Given the description of an element on the screen output the (x, y) to click on. 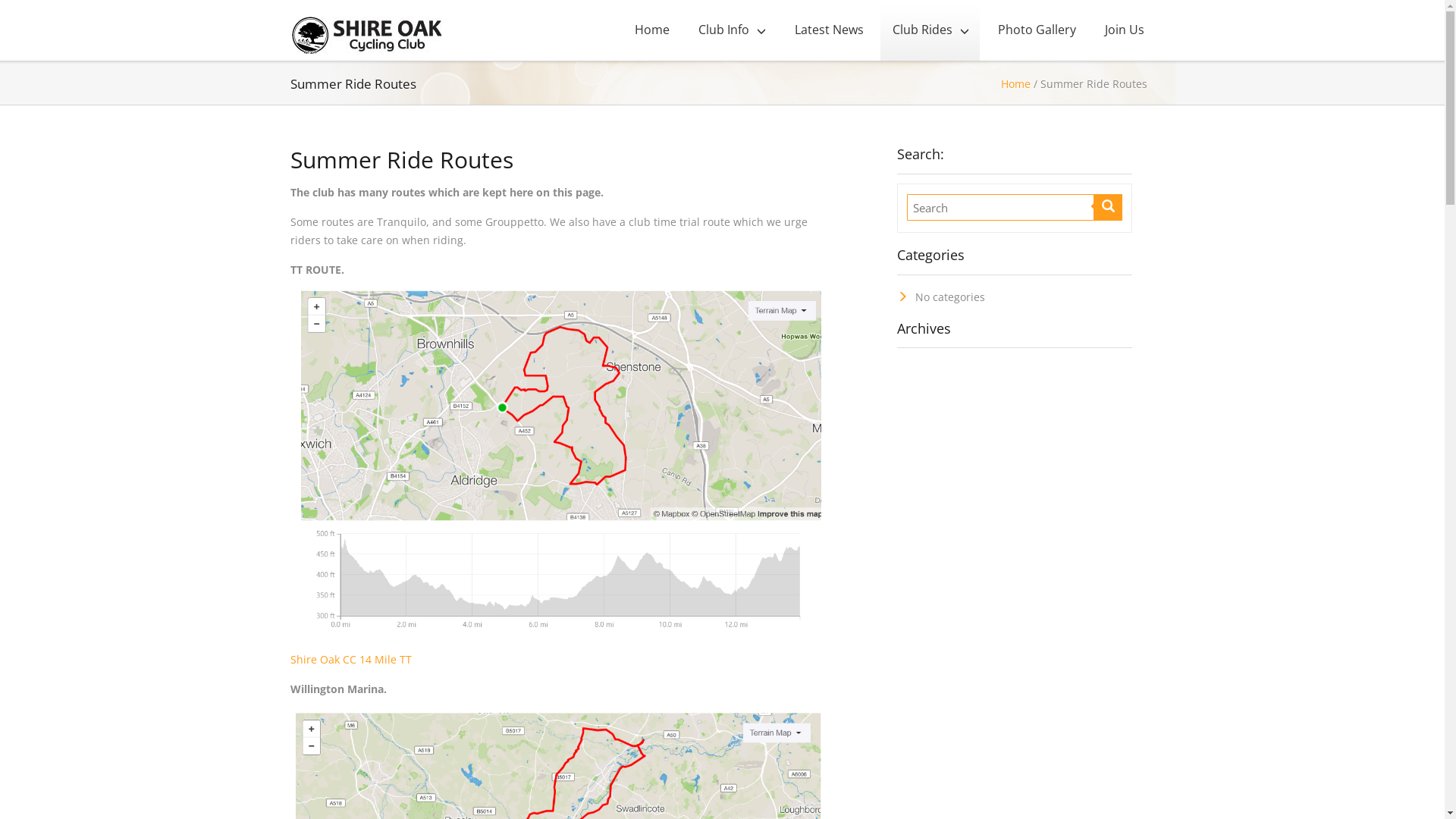
Home Element type: text (1015, 83)
Shire Oak CC 14 Mile TT Element type: text (350, 659)
Latest News Element type: text (828, 30)
Join Us Element type: text (1123, 30)
Club Info Element type: text (730, 30)
Photo Gallery Element type: text (1035, 30)
Home Element type: text (650, 30)
Club Rides Element type: text (929, 30)
